Given the description of an element on the screen output the (x, y) to click on. 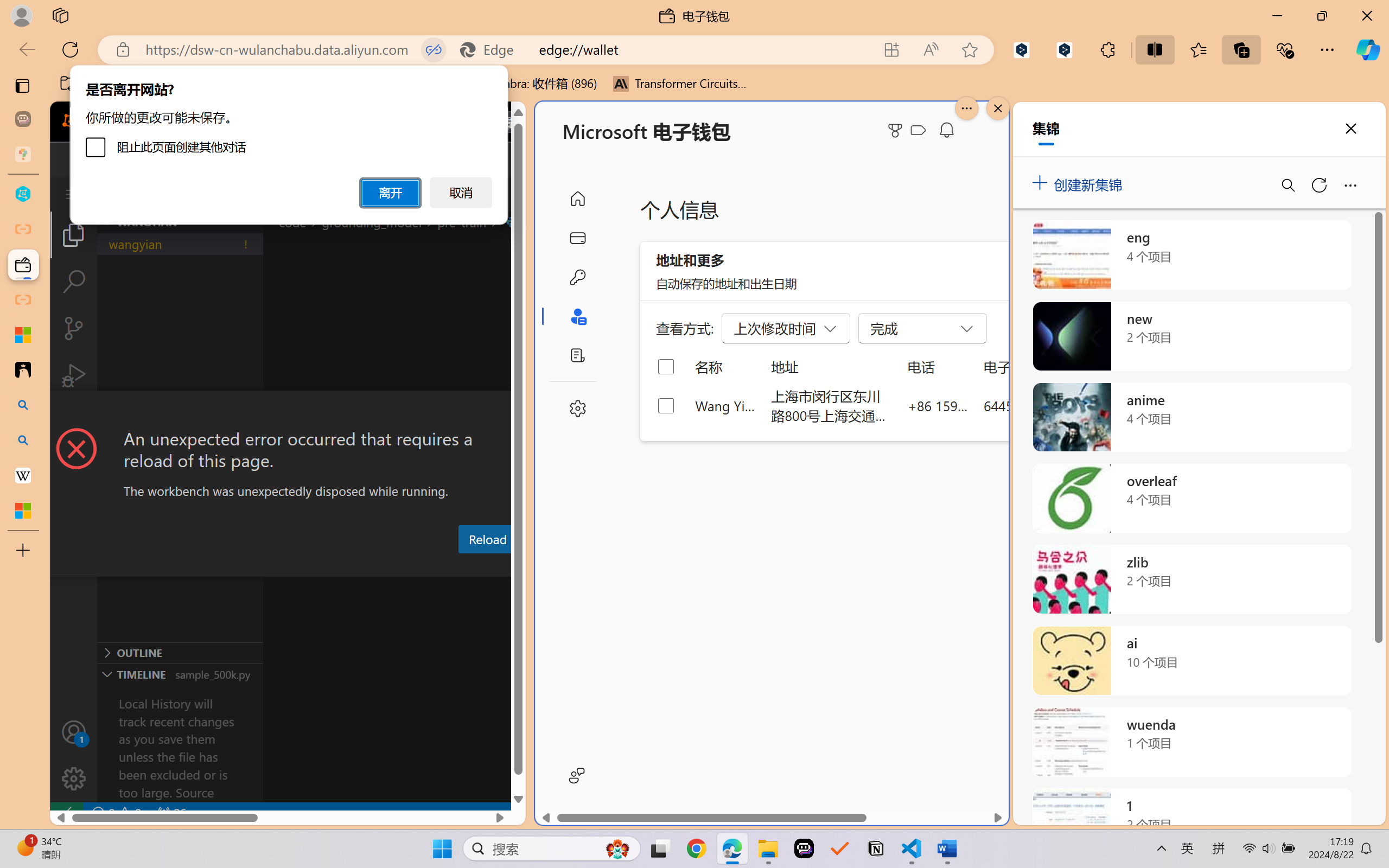
Copilot (Ctrl+Shift+.) (1368, 49)
Output (Ctrl+Shift+U) (377, 565)
Transformer Circuits Thread (680, 83)
remote (66, 812)
